Given the description of an element on the screen output the (x, y) to click on. 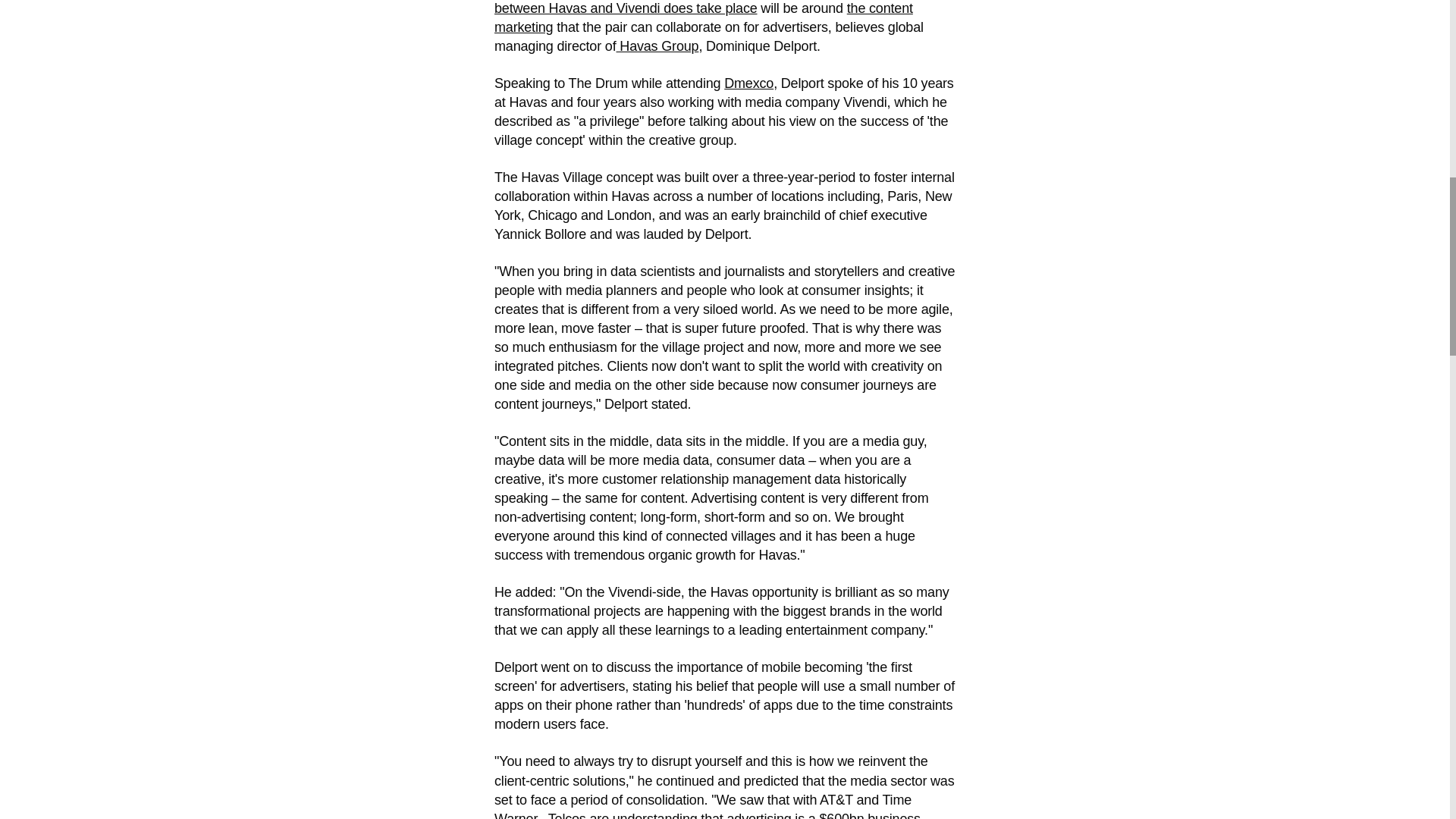
Dmexco (748, 83)
the content marketing (703, 17)
3rd party ad content (108, 7)
Havas Group (656, 46)
